Given the description of an element on the screen output the (x, y) to click on. 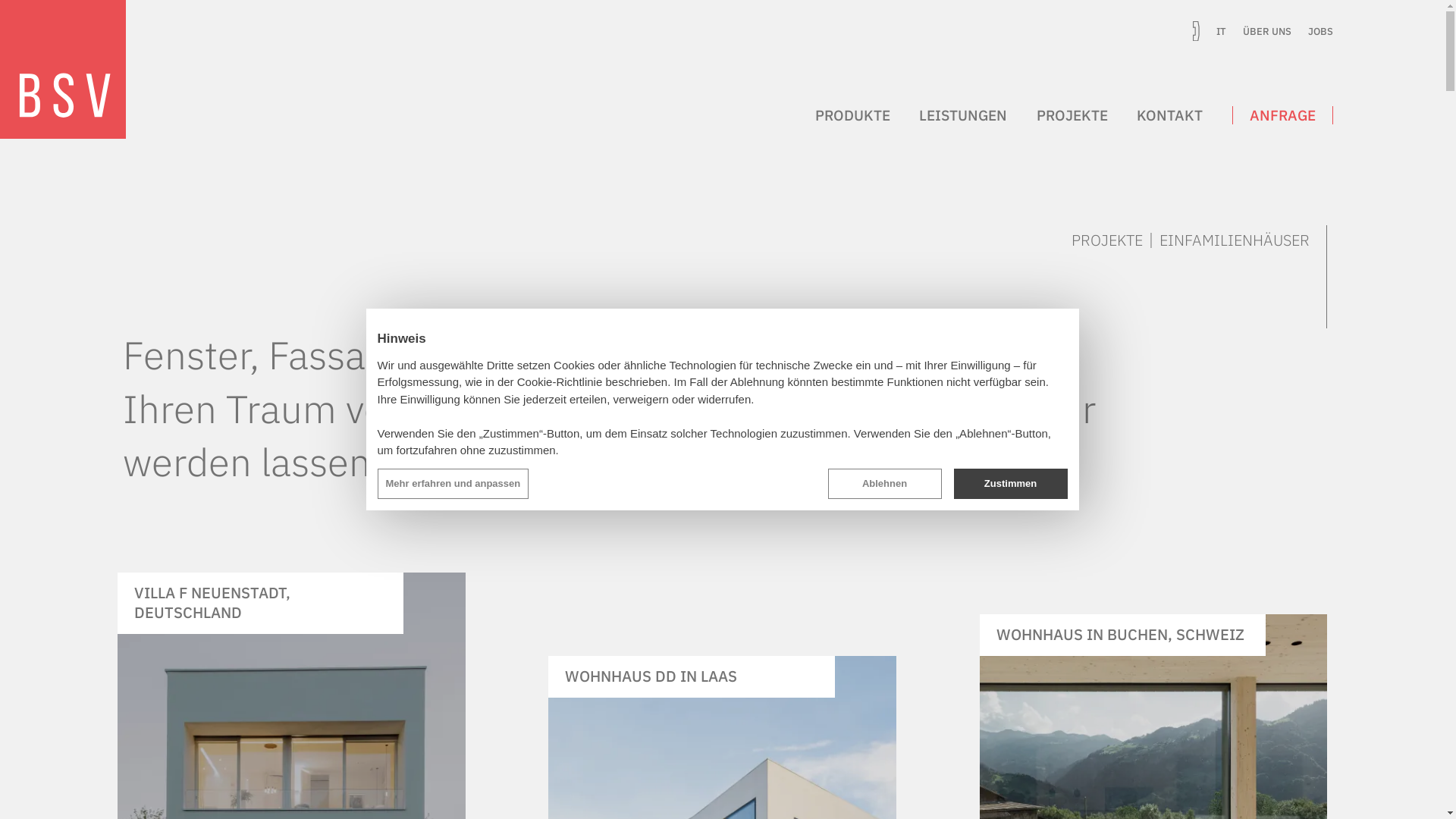
ANFRAGE Element type: text (1282, 115)
PRODUKTE Element type: text (867, 115)
+39 0473 876 200 Element type: hover (1195, 30)
PROJEKTE Element type: text (1086, 115)
JOBS Element type: text (1320, 30)
BSV GmbH Element type: hover (62, 69)
PROJEKTE Element type: text (1106, 240)
Zustimmen Element type: text (1010, 483)
Cookie-Richtlinie Element type: text (559, 381)
Mehr erfahren und anpassen Element type: text (453, 483)
KONTAKT Element type: text (1184, 115)
Ablehnen Element type: text (884, 483)
LEISTUNGEN Element type: text (977, 115)
IT Element type: text (1221, 30)
